Given the description of an element on the screen output the (x, y) to click on. 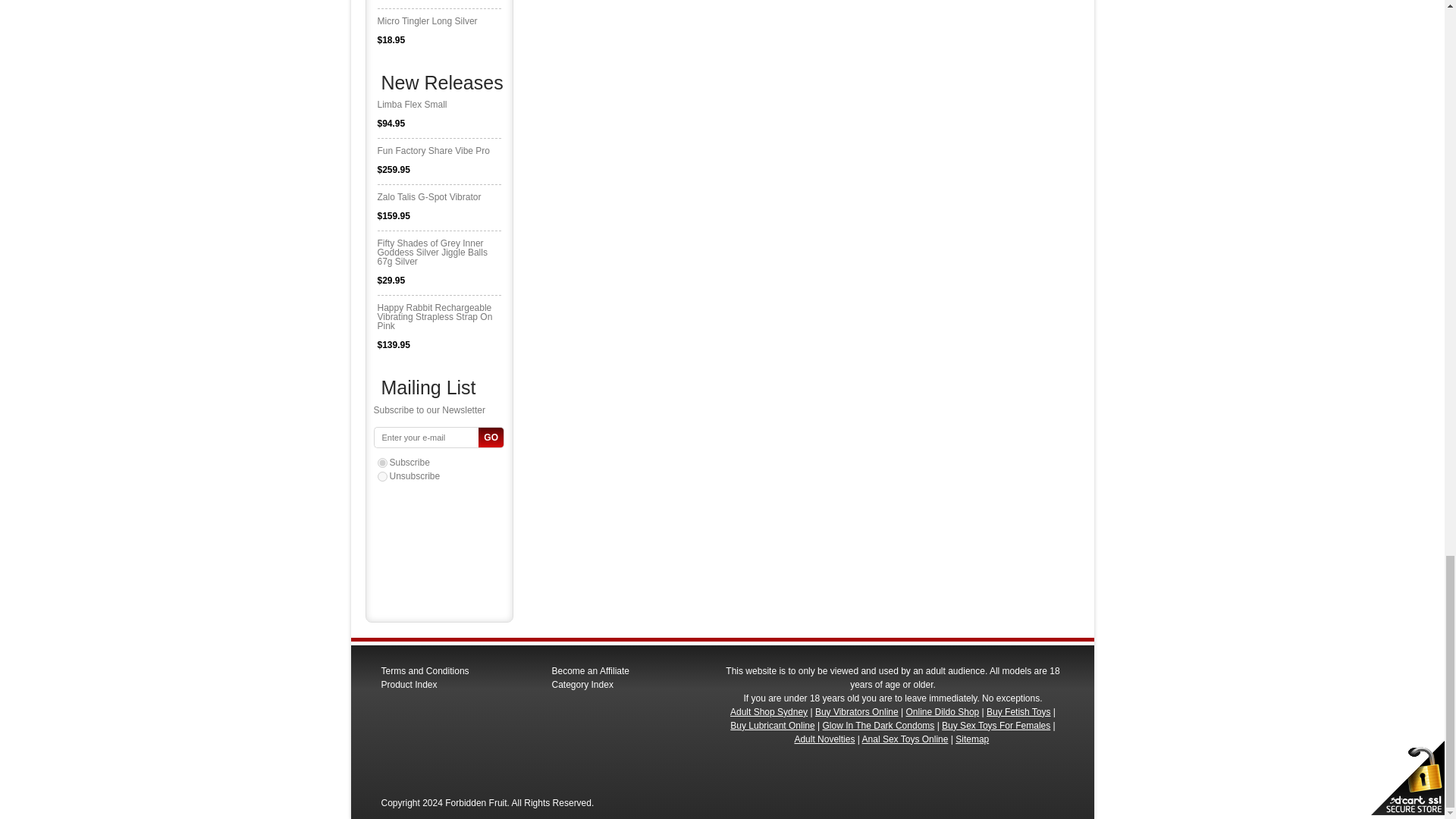
GO (492, 436)
Follow Us on Instagram (792, 768)
1 (382, 462)
Follow Us on Twitter (751, 768)
0 (382, 476)
Like Us on Facebook (730, 768)
Follow Us on Pinterest (770, 768)
